Given the description of an element on the screen output the (x, y) to click on. 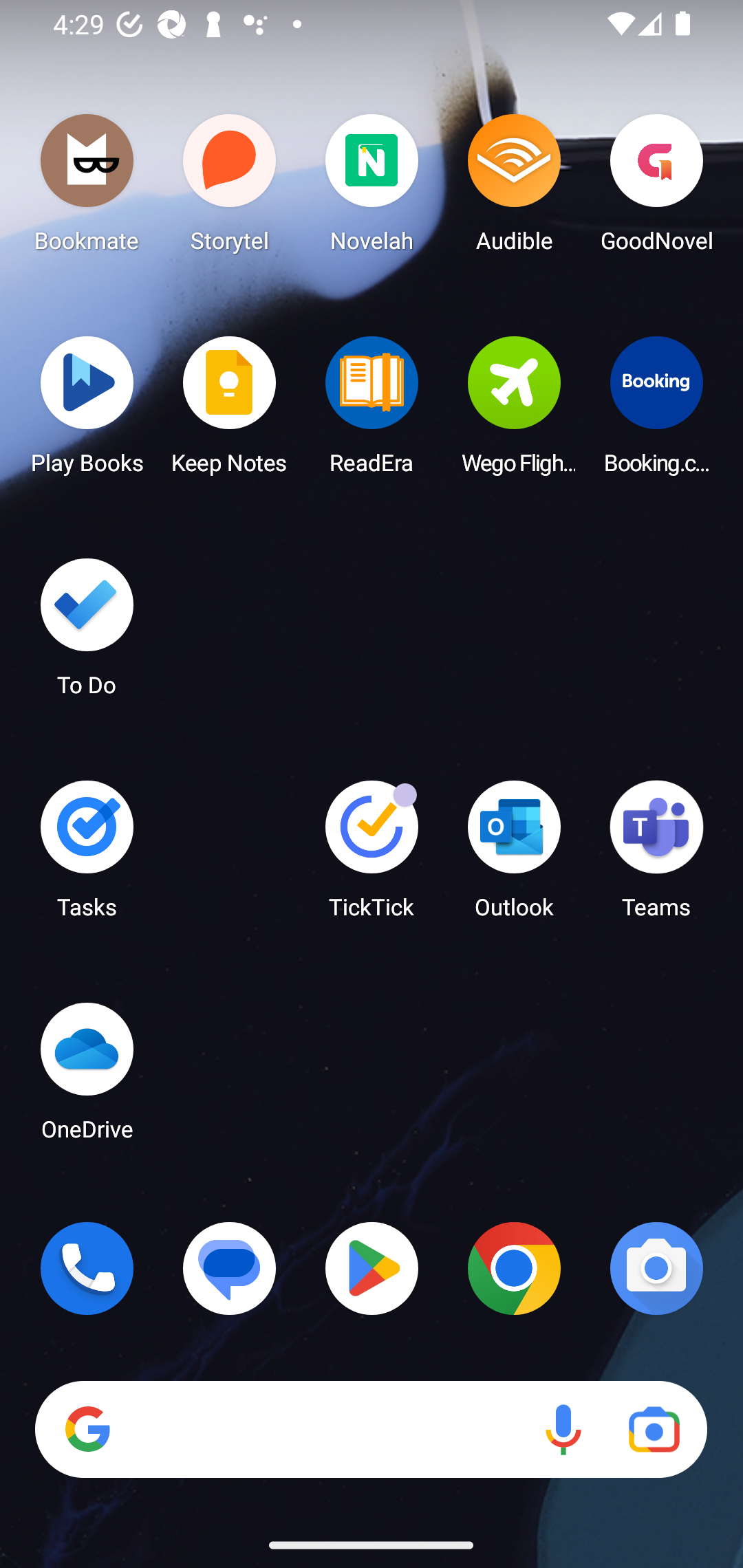
Bookmate (86, 188)
Storytel (229, 188)
Novelah (371, 188)
Audible (513, 188)
GoodNovel (656, 188)
Play Books (86, 410)
Keep Notes (229, 410)
ReadEra (371, 410)
Wego Flights & Hotels (513, 410)
Booking.com (656, 410)
To Do (86, 633)
Tasks (86, 854)
TickTick TickTick has 3 notifications (371, 854)
Outlook (513, 854)
Teams (656, 854)
OneDrive (86, 1076)
Phone (86, 1268)
Messages (229, 1268)
Play Store (371, 1268)
Chrome (513, 1268)
Camera (656, 1268)
Voice search (562, 1429)
Google Lens (653, 1429)
